Given the description of an element on the screen output the (x, y) to click on. 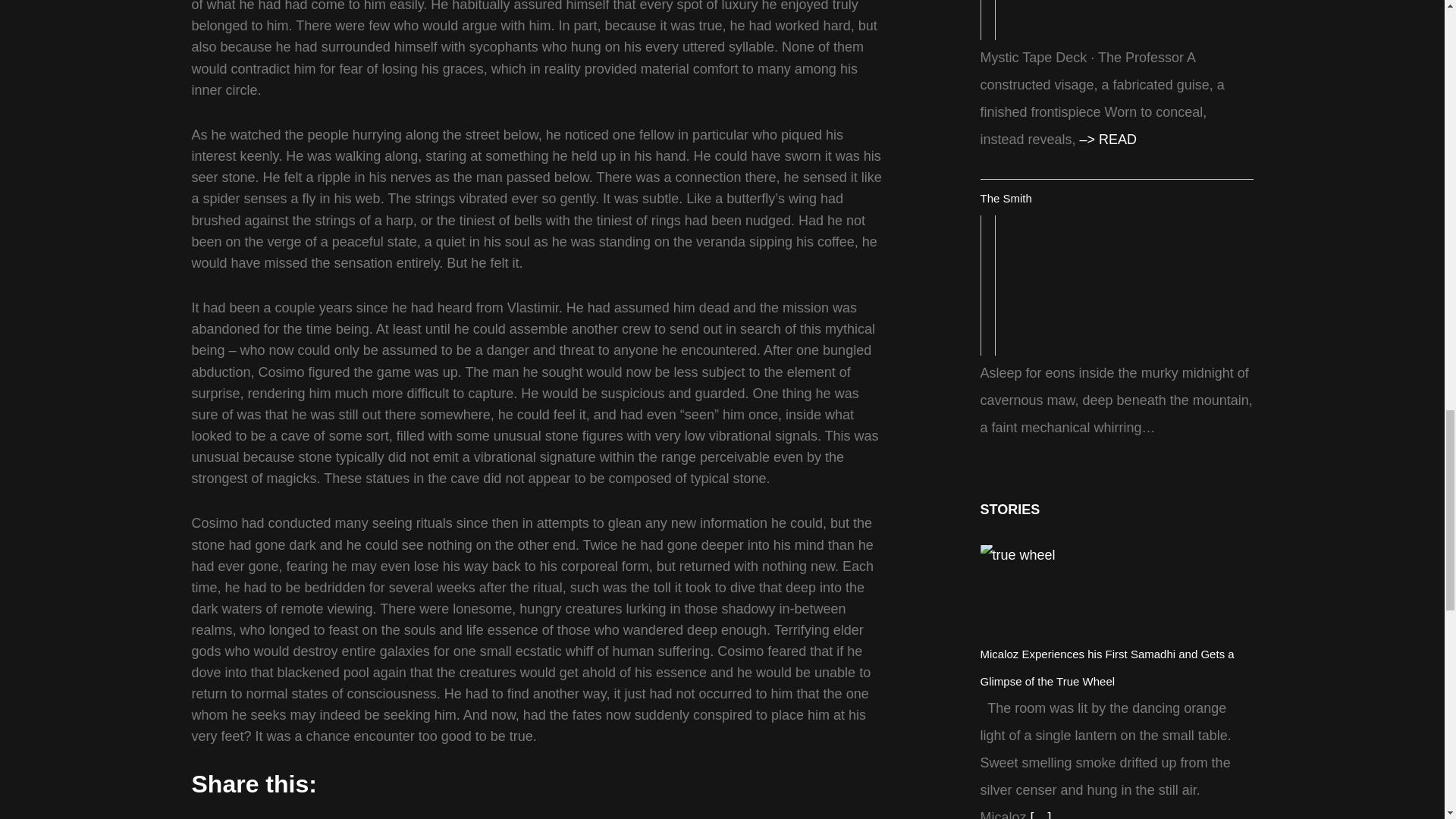
STORIES (1009, 509)
The Professor (1111, 20)
Continue reading The Professor (1108, 139)
The Smith (1111, 285)
The Smith (1004, 197)
